Given the description of an element on the screen output the (x, y) to click on. 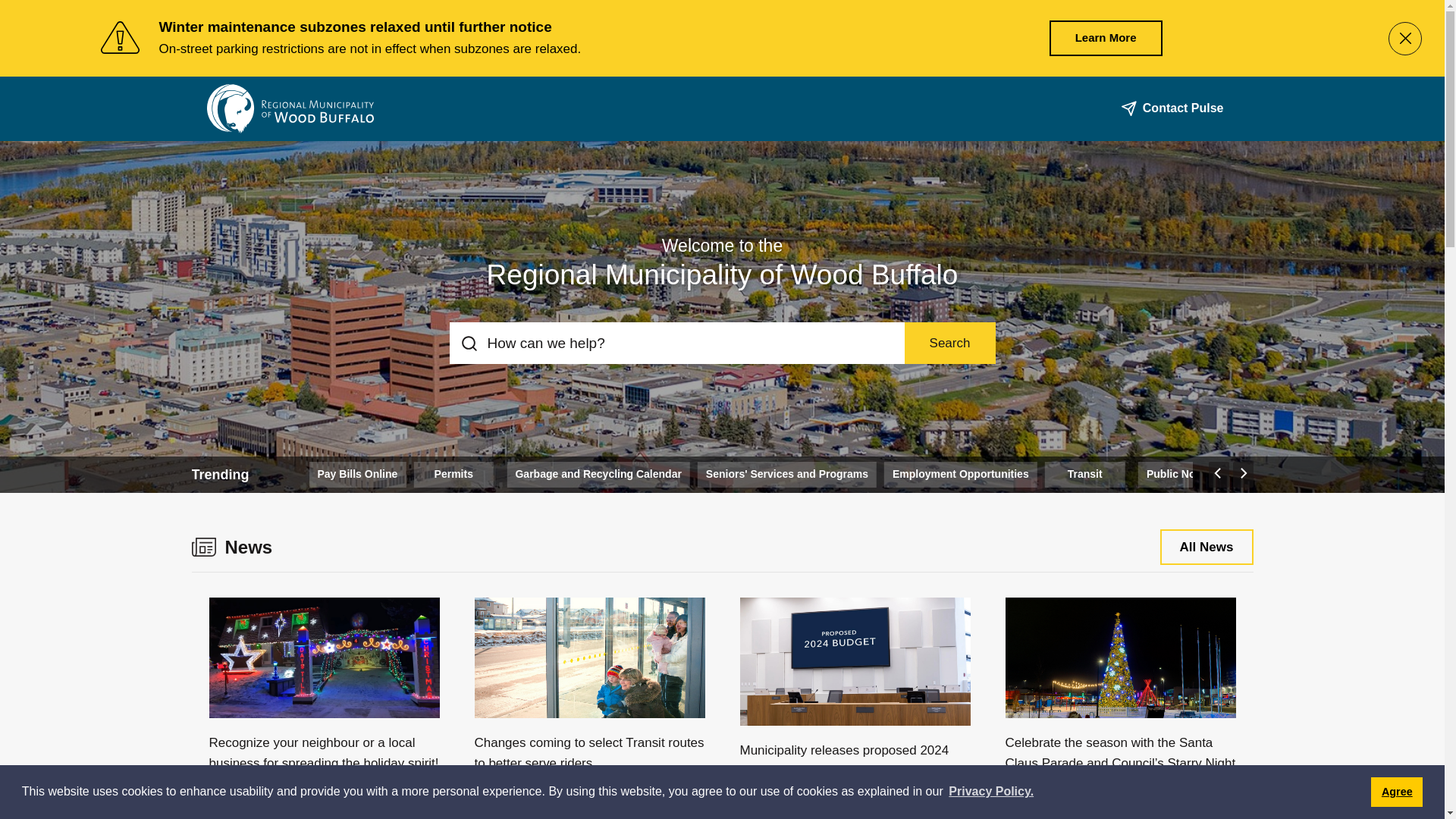
Public Notices Element type: text (1182, 473)
Seniors' Services and Programs Element type: text (786, 473)
Enter search keywords Element type: hover (675, 343)
Employment Opportunities Element type: text (960, 473)
Contact Pulse Element type: text (1177, 108)
Agree Element type: text (1396, 791)
Emergency Medical Services Element type: text (219, 473)
View our Homepage Element type: hover (289, 108)
Pay Bills Online Element type: text (356, 473)
Transit Element type: text (1084, 473)
Permits Element type: text (453, 473)
Learn More Element type: text (1105, 38)
Skip to Content Element type: text (0, 0)
Search Element type: text (948, 343)
Privacy Policy. Element type: text (990, 791)
All News Element type: text (1206, 547)
Garbage and Recycling Calendar Element type: text (597, 473)
